Given the description of an element on the screen output the (x, y) to click on. 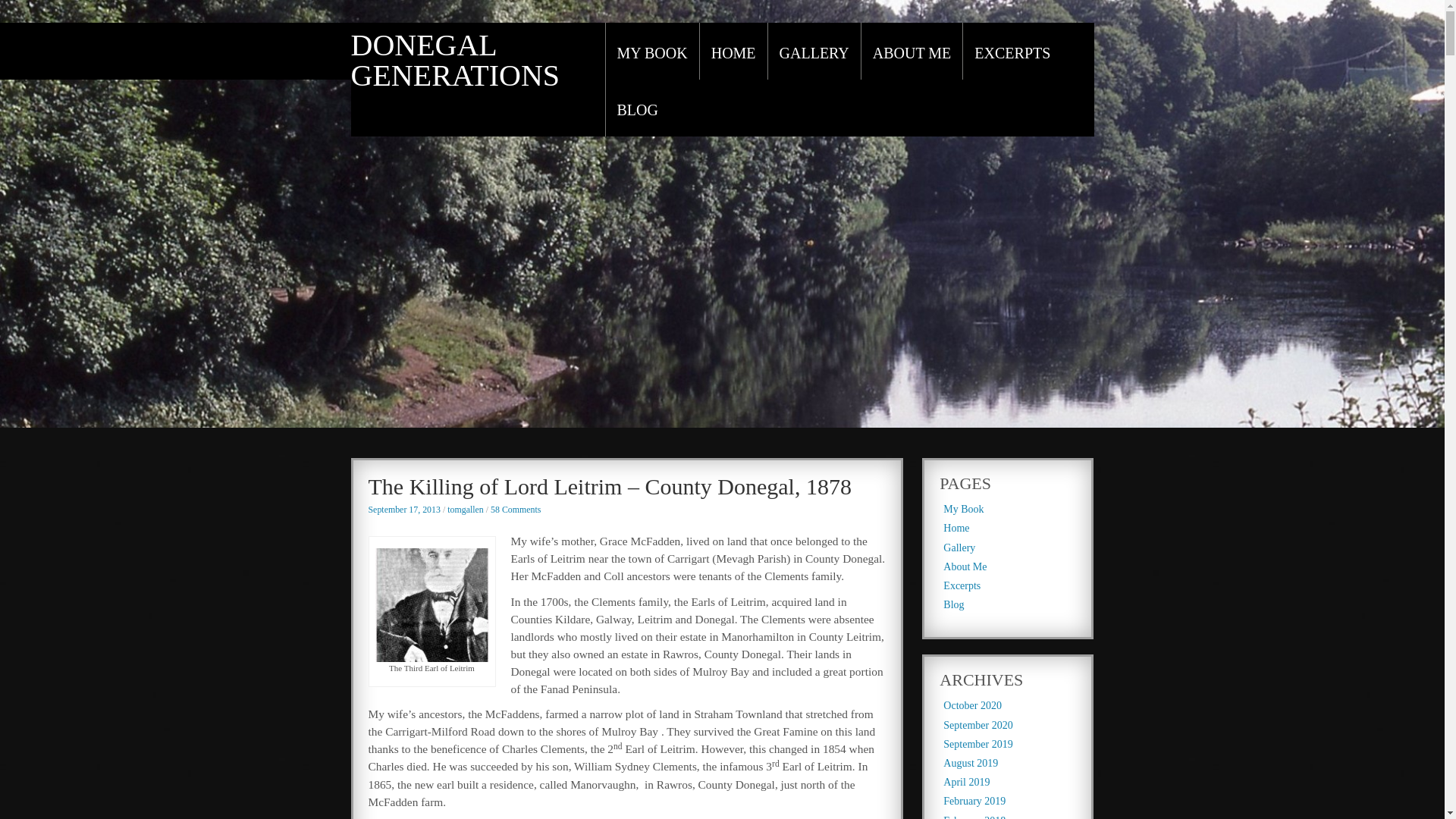
tomgallen (464, 509)
View all posts by tomgallen (464, 509)
BLOG (637, 109)
DONEGAL GENERATIONS (454, 59)
9:18 pm (404, 509)
58 Comments (515, 509)
EXCERPTS (1011, 52)
DONEGAL GENERATIONS (454, 59)
ABOUT ME (912, 52)
GALLERY (813, 52)
HOME (733, 52)
September 17, 2013 (404, 509)
MY BOOK (652, 52)
